Given the description of an element on the screen output the (x, y) to click on. 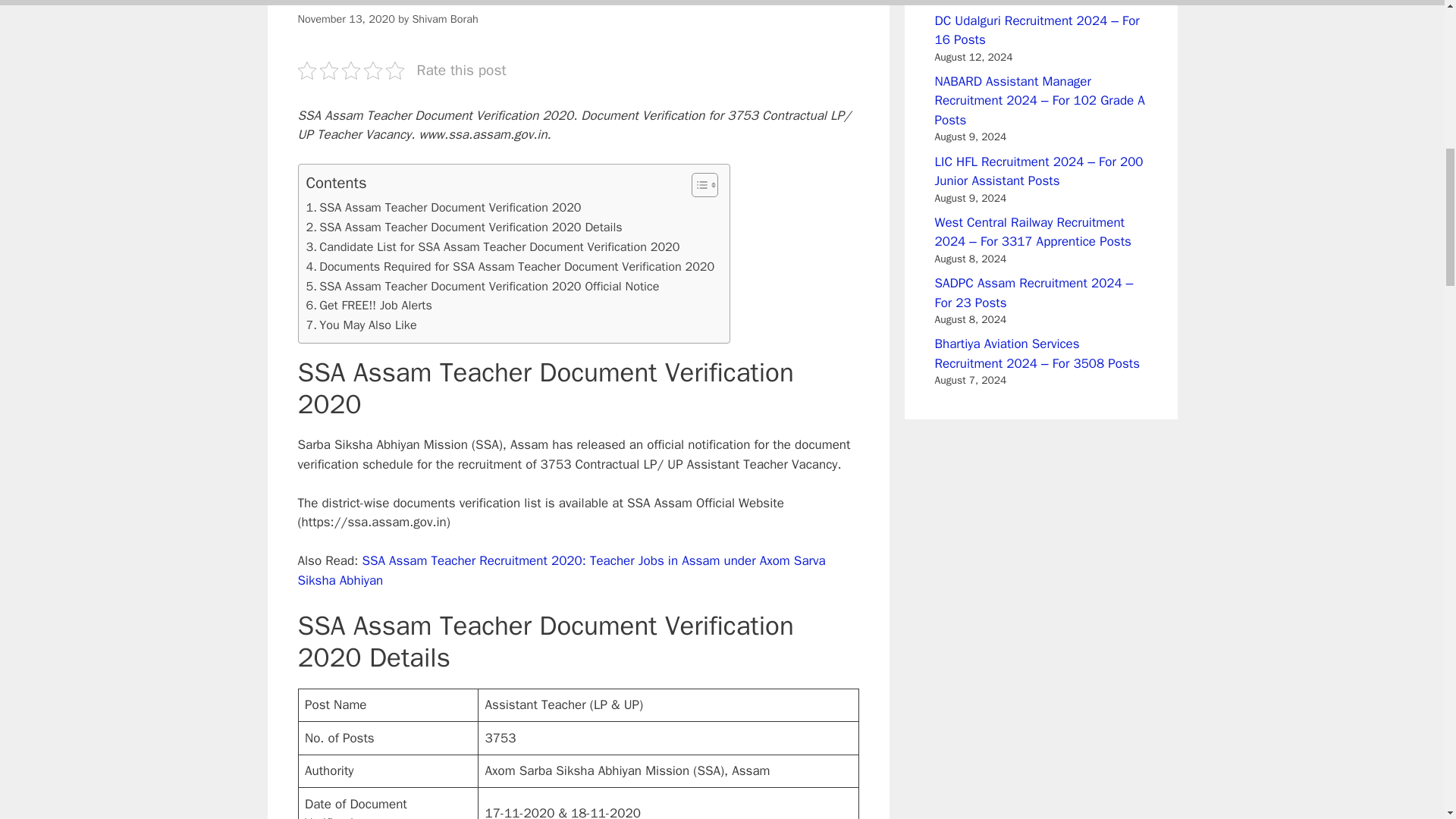
SSA Assam Teacher Document Verification 2020 (442, 207)
You May Also Like (360, 324)
View all posts by Shivam Borah (444, 18)
SSA Assam Teacher Document Verification 2020 Details (464, 227)
Get FREE!! Job Alerts (368, 305)
SSA Assam Teacher Document Verification 2020 (442, 207)
SSA Assam Teacher Document Verification 2020 Official Notice (482, 286)
Get FREE!! Job Alerts (368, 305)
